Given the description of an element on the screen output the (x, y) to click on. 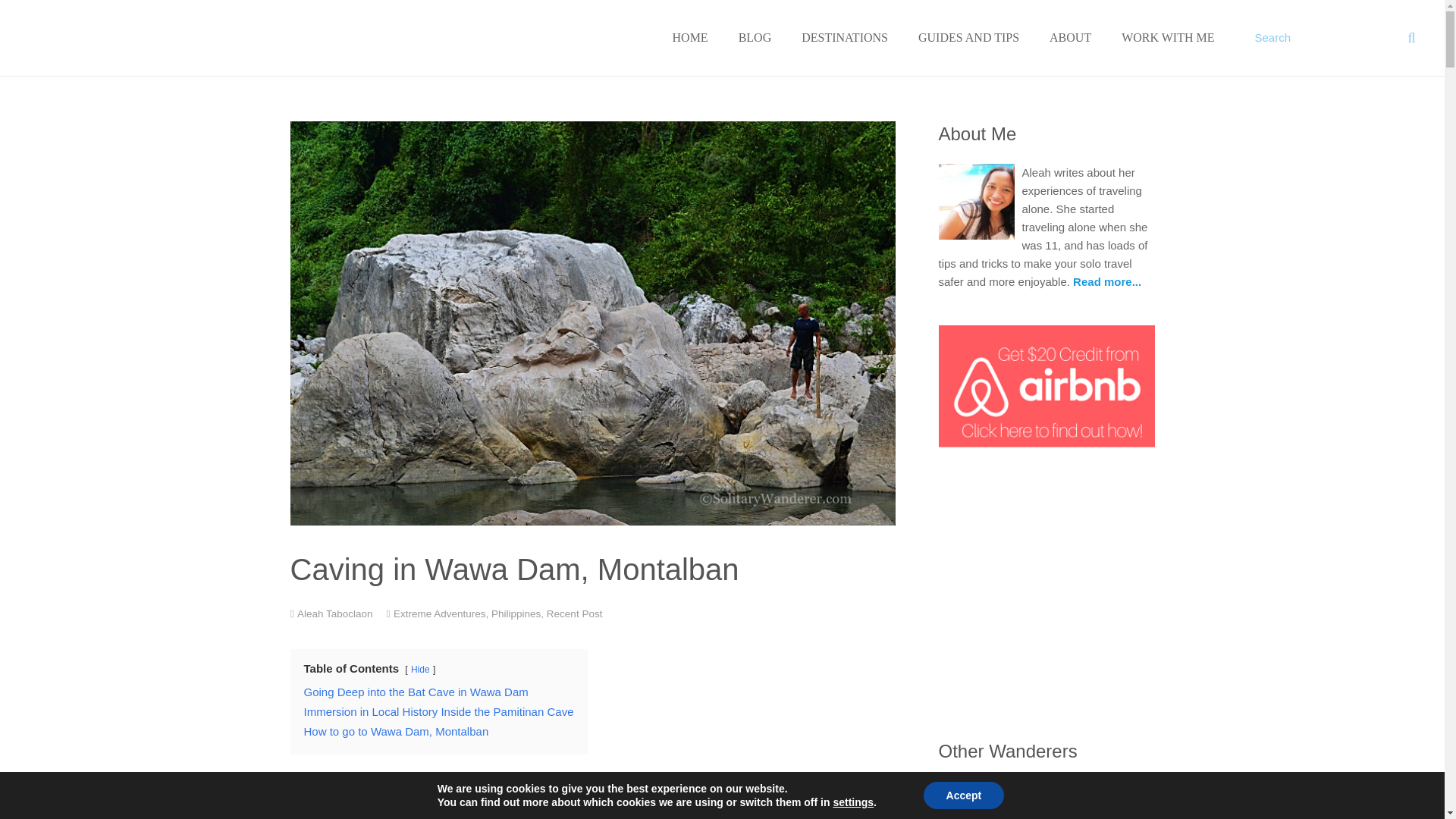
DESTINATIONS (844, 38)
HOME (690, 38)
BLOG (755, 38)
